Given the description of an element on the screen output the (x, y) to click on. 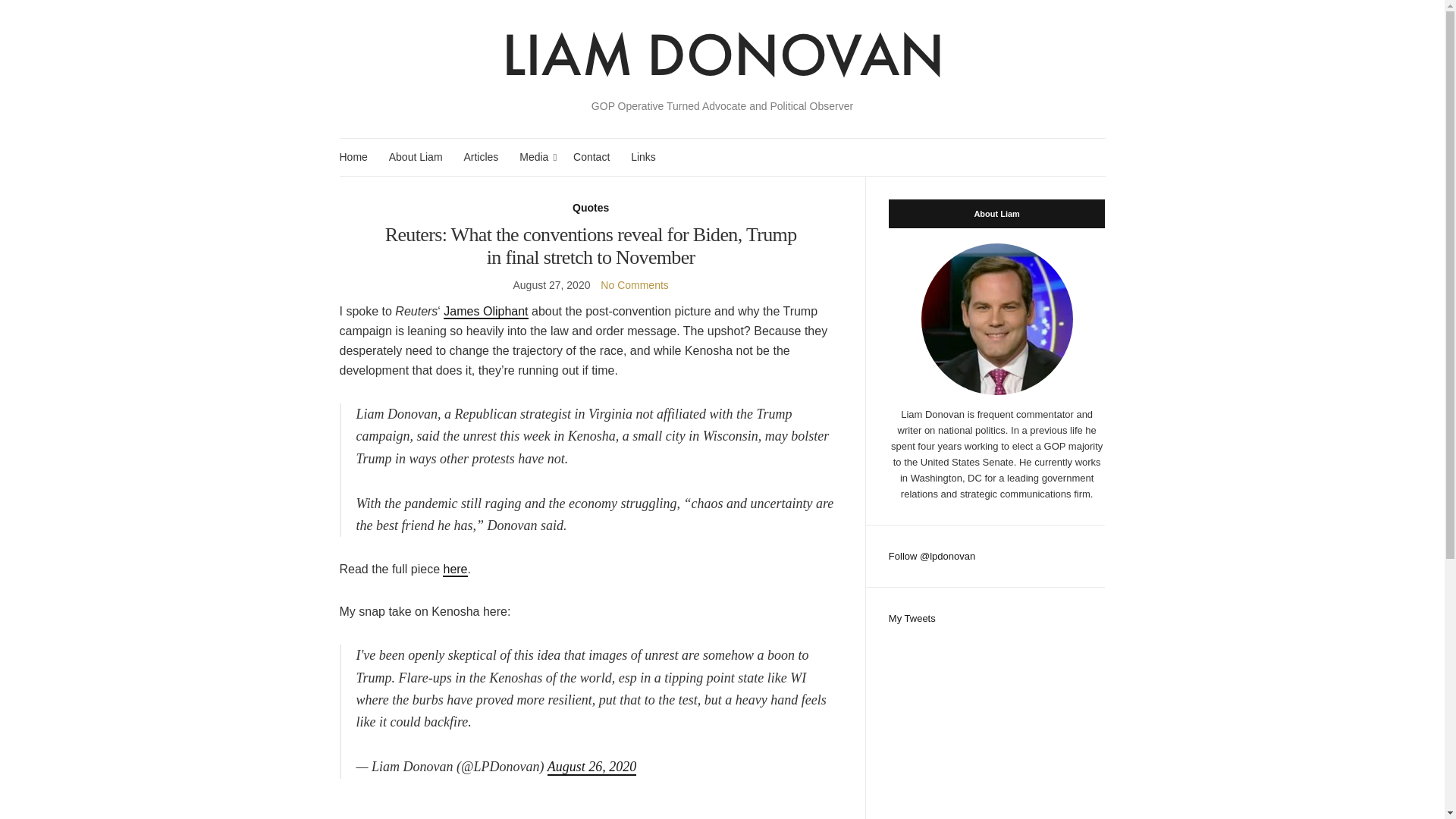
My Tweets (912, 618)
About Liam (415, 157)
No Comments (633, 285)
Links (643, 157)
Contact (591, 157)
August 26, 2020 (592, 767)
Articles (480, 157)
James Oliphant (485, 311)
here (454, 569)
Media (535, 157)
